Given the description of an element on the screen output the (x, y) to click on. 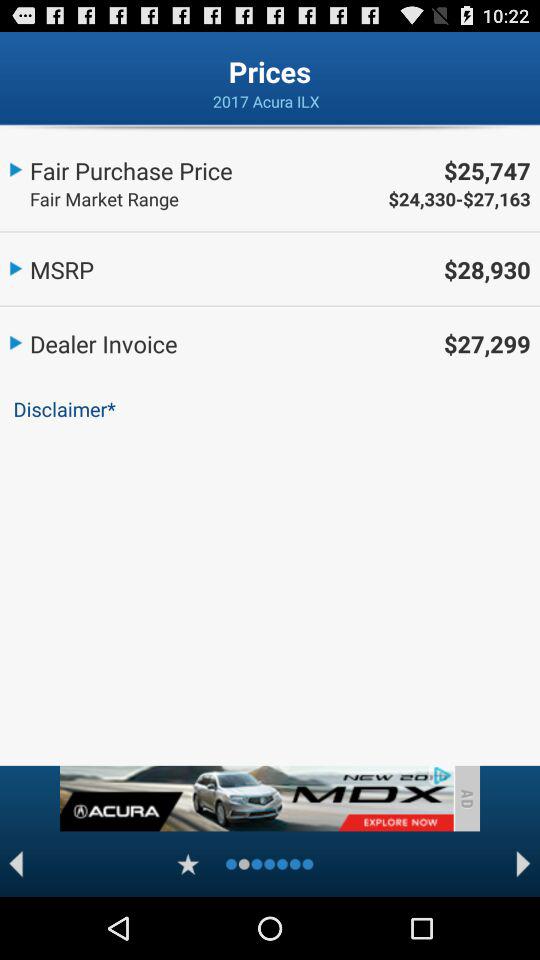
star rating (188, 864)
